Given the description of an element on the screen output the (x, y) to click on. 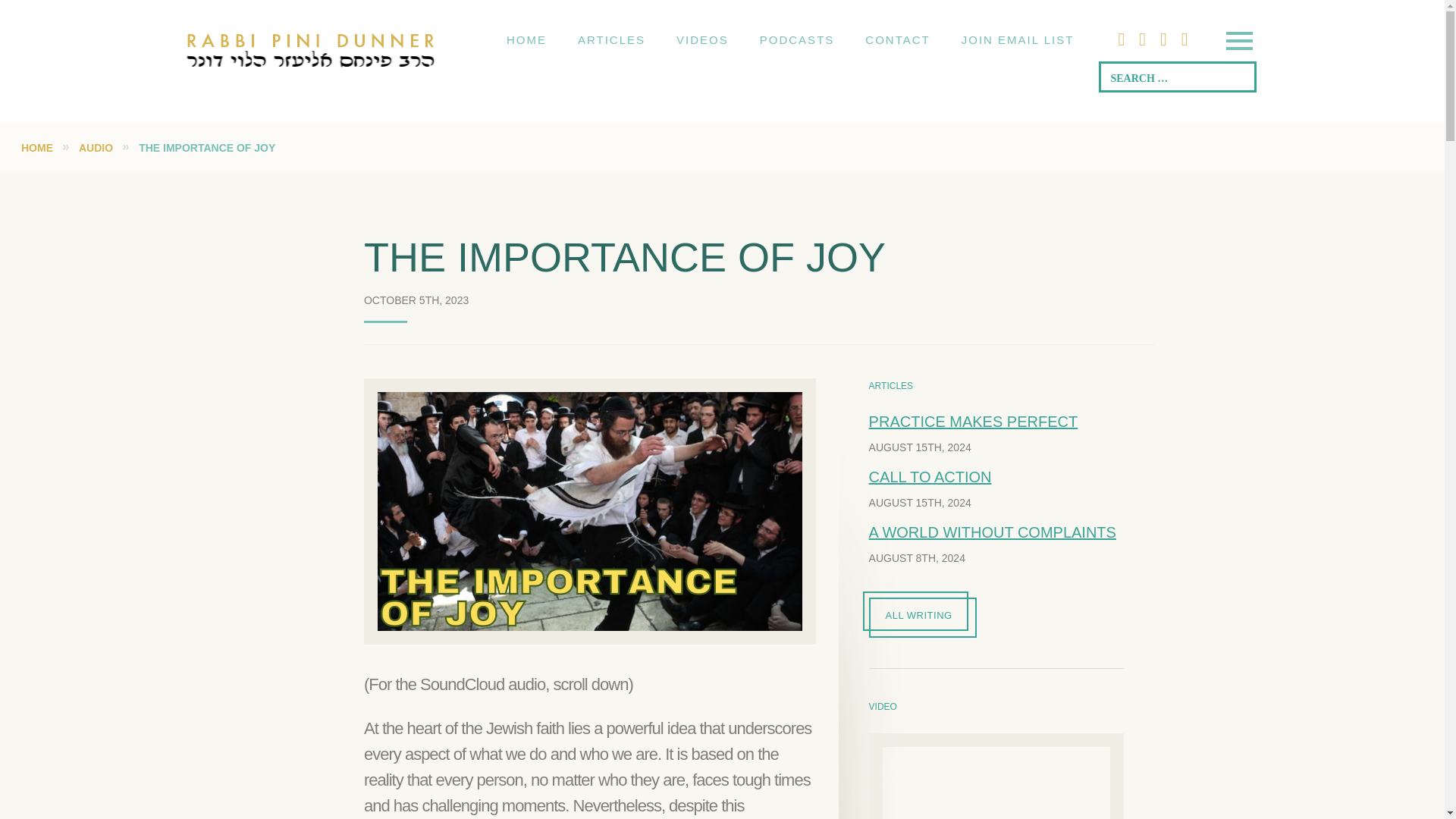
ARTICLES (611, 40)
PODCASTS (796, 40)
HOME (526, 40)
HOME (36, 147)
CALL TO ACTION (930, 476)
JOIN EMAIL LIST (1017, 40)
AUDIO (95, 147)
PRACTICE MAKES PERFECT (973, 421)
CONTACT (897, 40)
toggle menu (1238, 43)
